Given the description of an element on the screen output the (x, y) to click on. 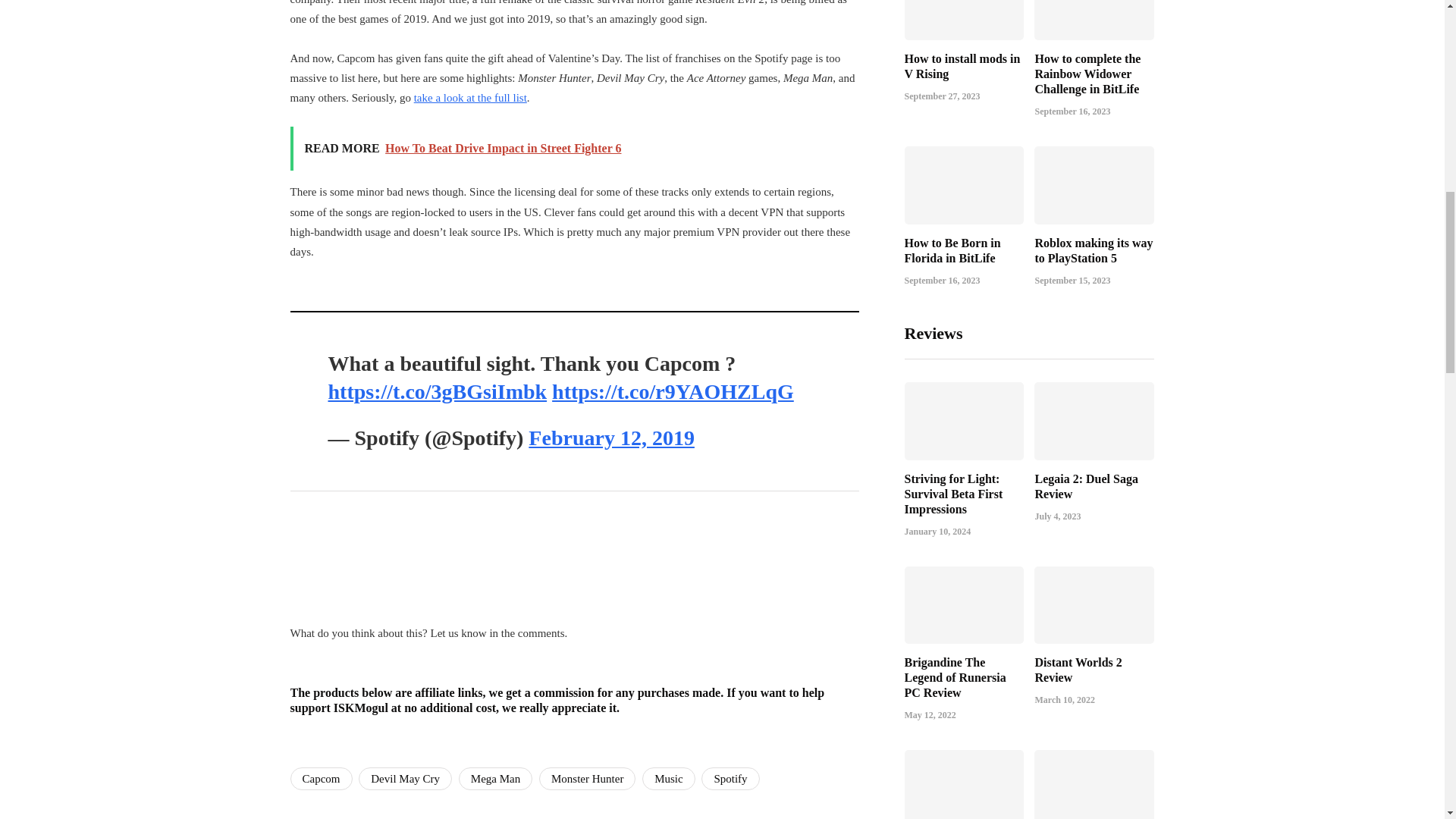
February 12, 2019 (611, 437)
Capcom (320, 778)
READ MORE  How To Beat Drive Impact in Street Fighter 6 (574, 148)
Music (668, 778)
take a look at the full list (470, 97)
Monster Hunter (586, 778)
Devil May Cry (404, 778)
Mega Man (495, 778)
Spotify (729, 778)
